Given the description of an element on the screen output the (x, y) to click on. 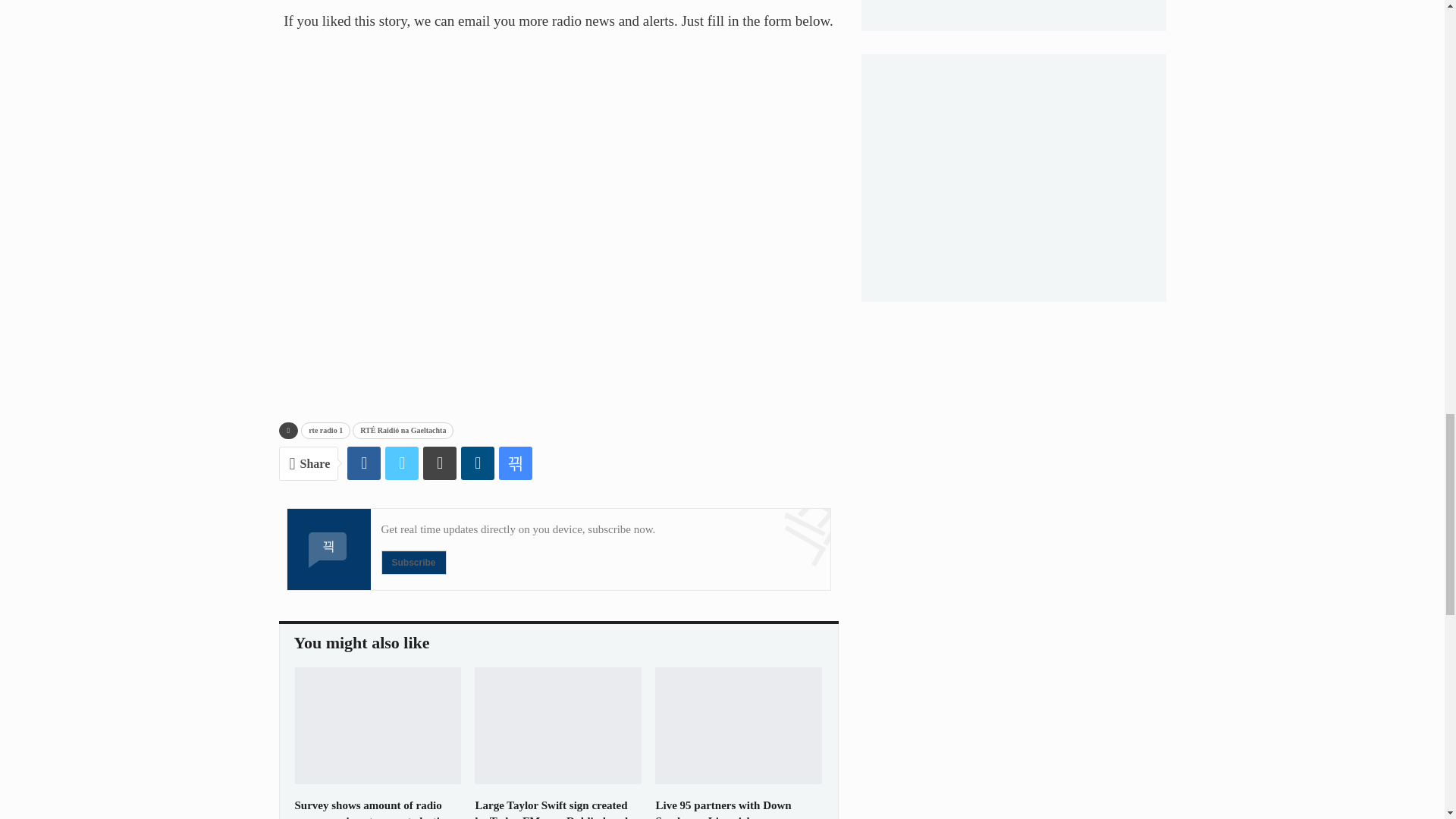
Live 95 partners with Down Syndrome Limerick (738, 725)
Live 95 partners with Down Syndrome Limerick (722, 809)
rte radio 1 (325, 430)
Subscribe (412, 562)
